Given the description of an element on the screen output the (x, y) to click on. 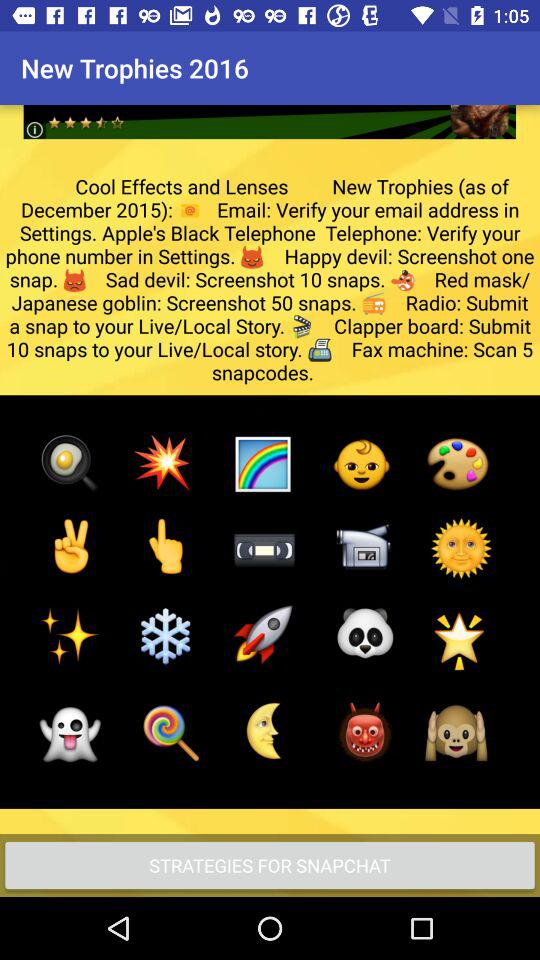
opens advertisement link (269, 106)
